Given the description of an element on the screen output the (x, y) to click on. 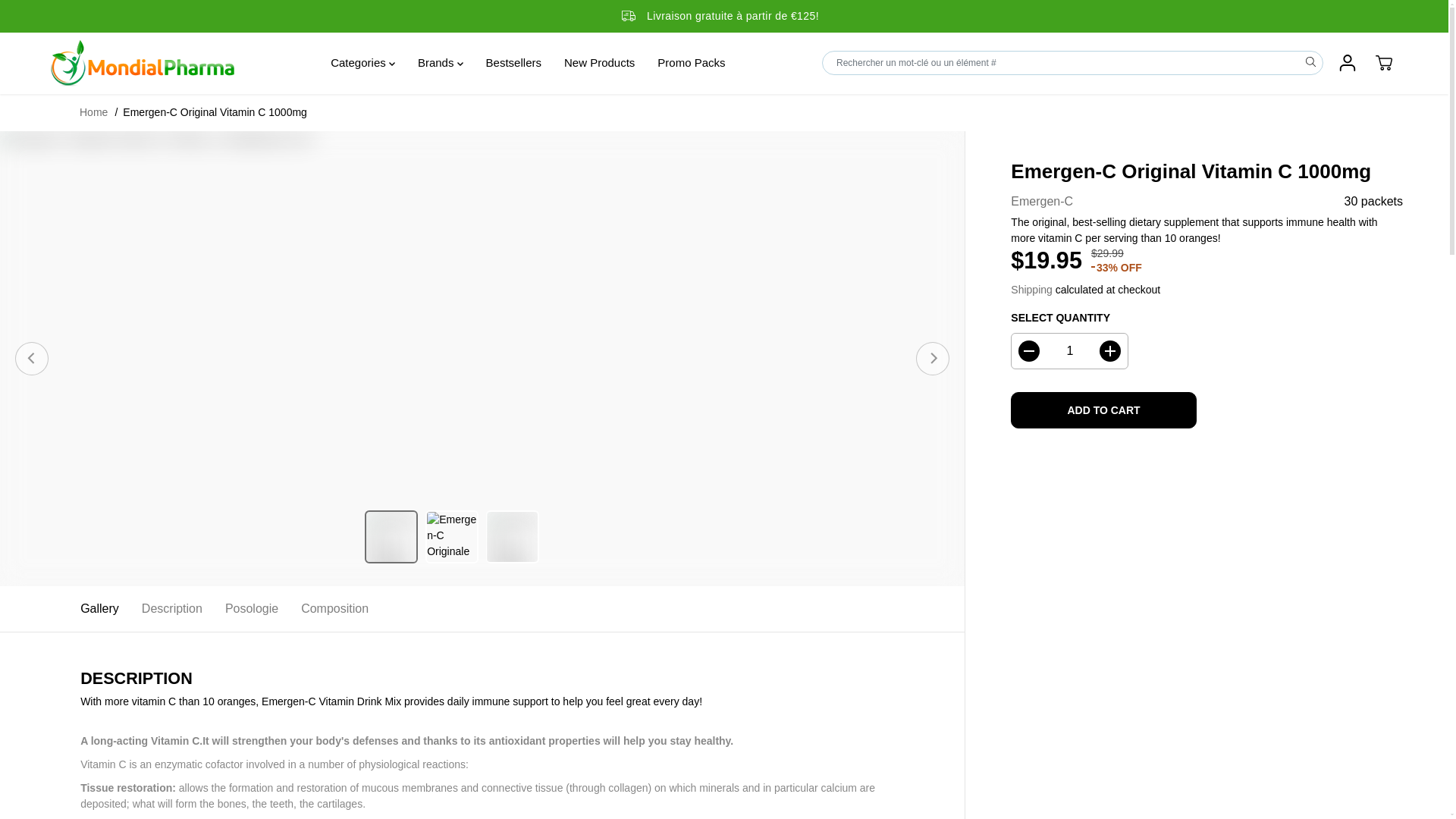
Cart (1383, 62)
Log in (1347, 62)
Home (93, 112)
SKIP TO CONTENT (60, 18)
1 (1069, 350)
